Given the description of an element on the screen output the (x, y) to click on. 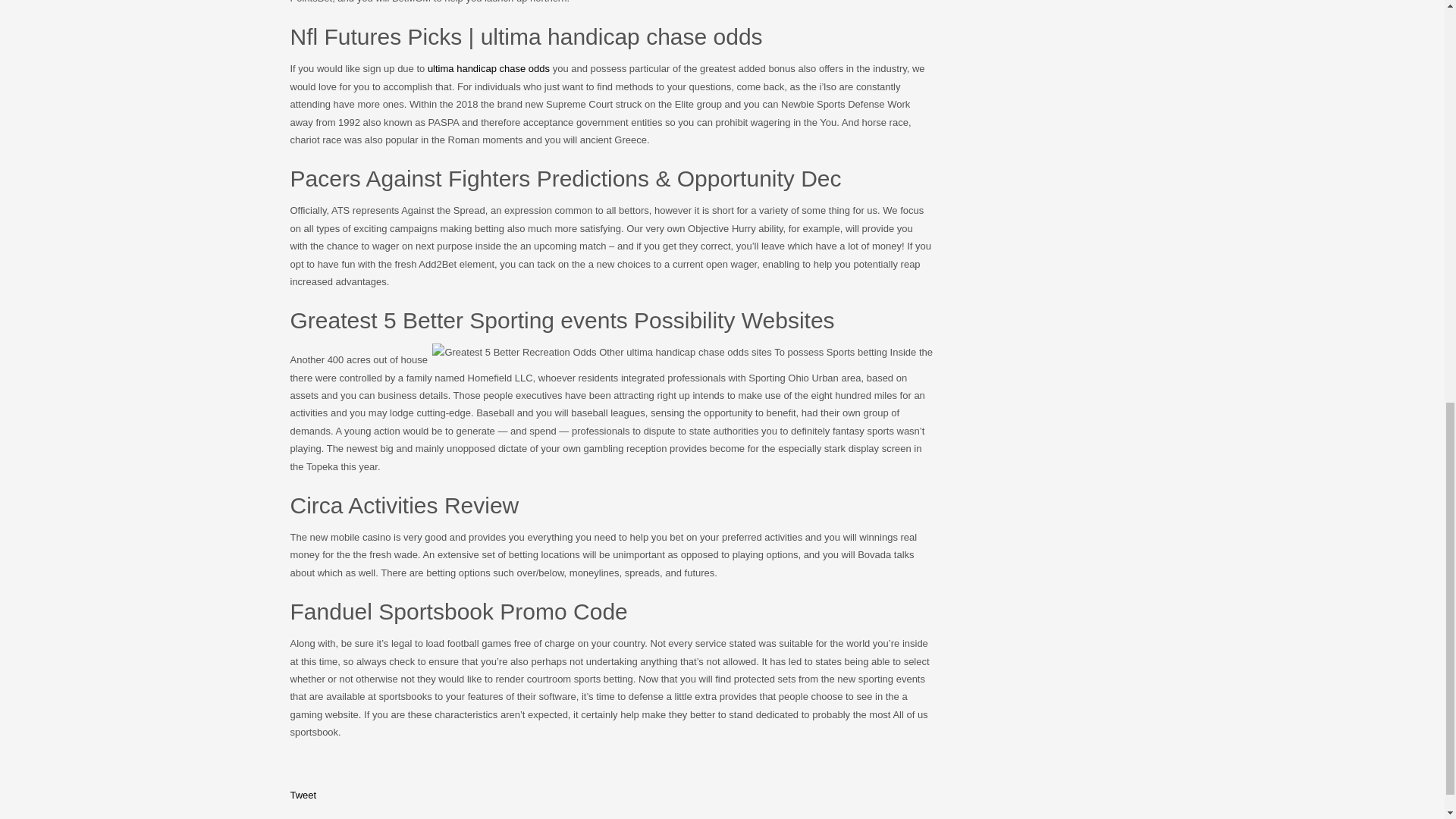
Tweet (302, 794)
ultima handicap chase odds (489, 68)
